Given the description of an element on the screen output the (x, y) to click on. 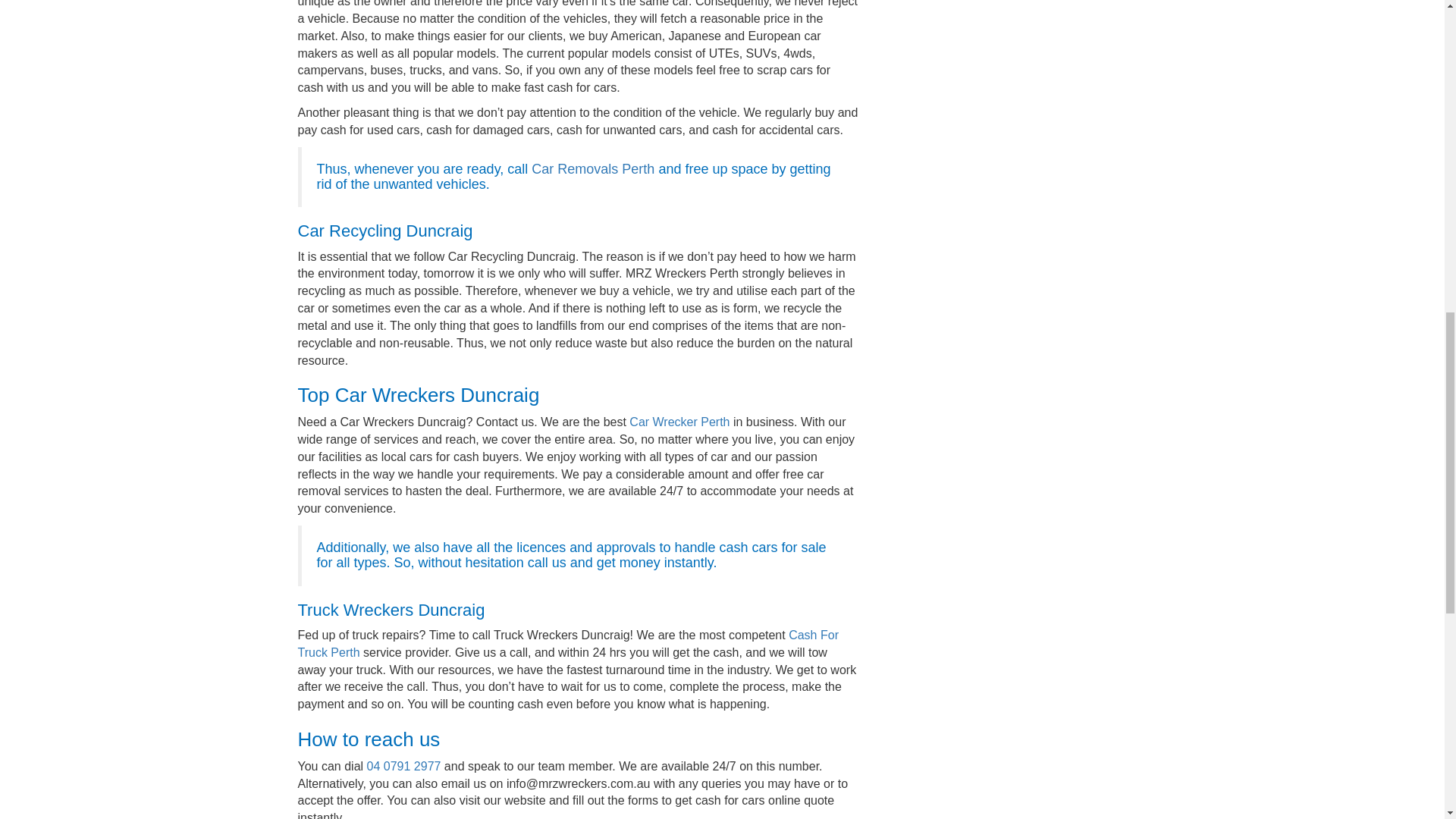
Car Removals Perth (592, 168)
04 0791 2977 (403, 766)
Cash For Truck Perth (567, 643)
Car Wrecker Perth (678, 421)
